Given the description of an element on the screen output the (x, y) to click on. 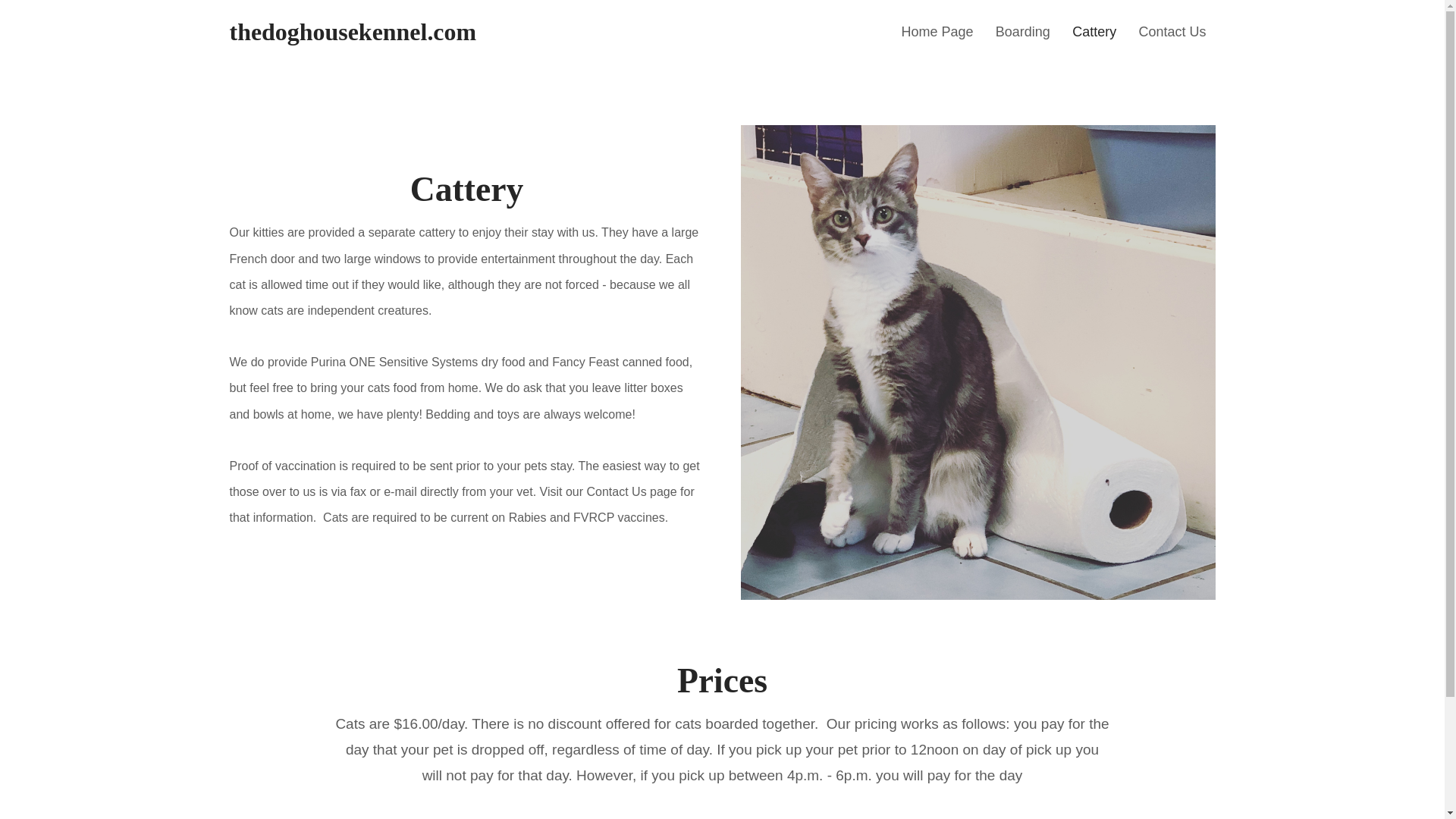
Home Page (936, 31)
Boarding (1023, 31)
Cattery (1093, 31)
thedoghousekennel.com (352, 31)
Contact Us (1171, 31)
